Given the description of an element on the screen output the (x, y) to click on. 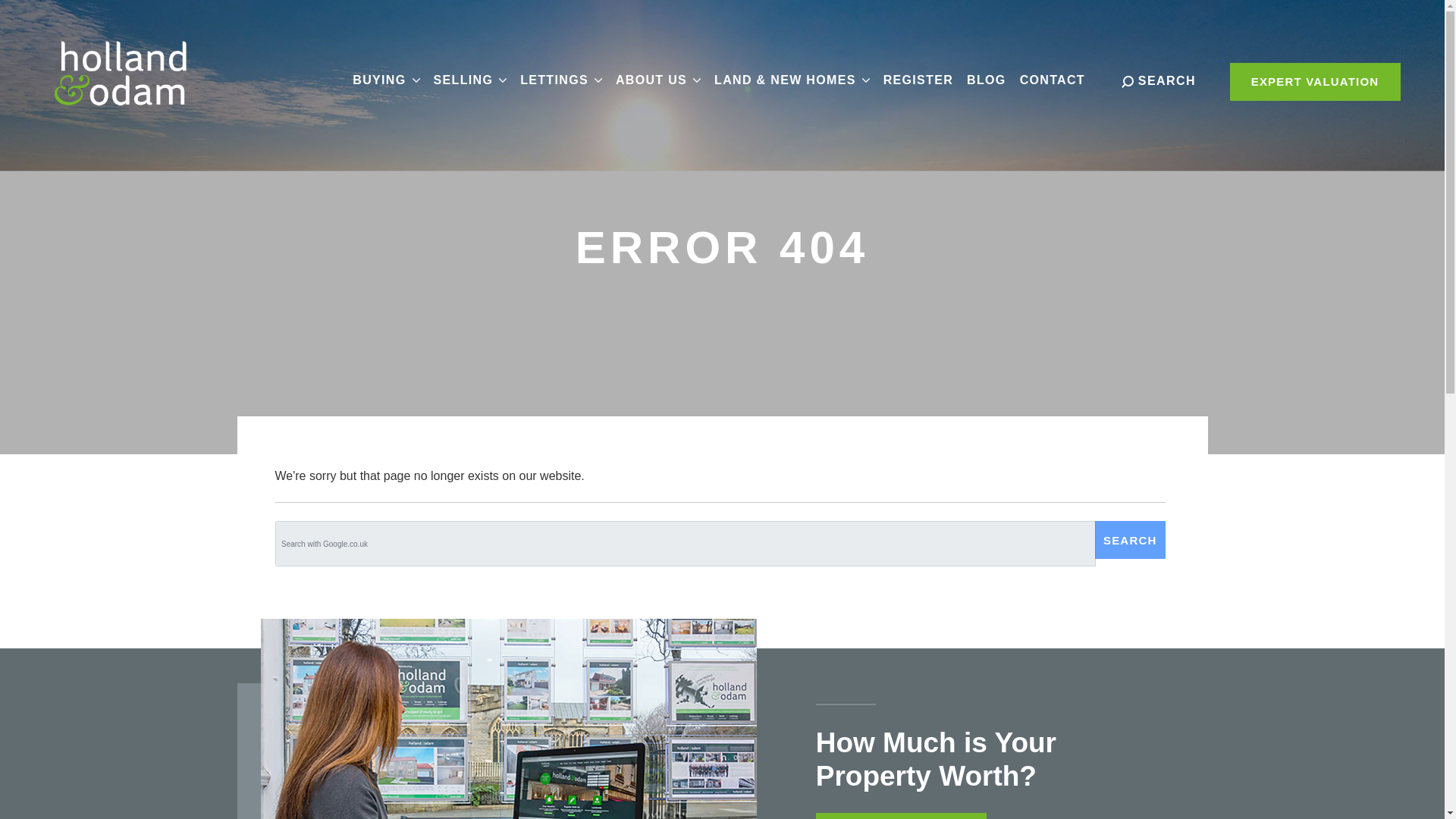
BUYING (386, 80)
EXPERT VALUATION (1315, 81)
ABOUT US (657, 80)
BLOG (986, 80)
BOOK A VALUATION (901, 816)
REGISTER (917, 80)
CONTACT (1052, 80)
LETTINGS (560, 80)
SEARCH (1130, 539)
SEARCH (1158, 81)
